Given the description of an element on the screen output the (x, y) to click on. 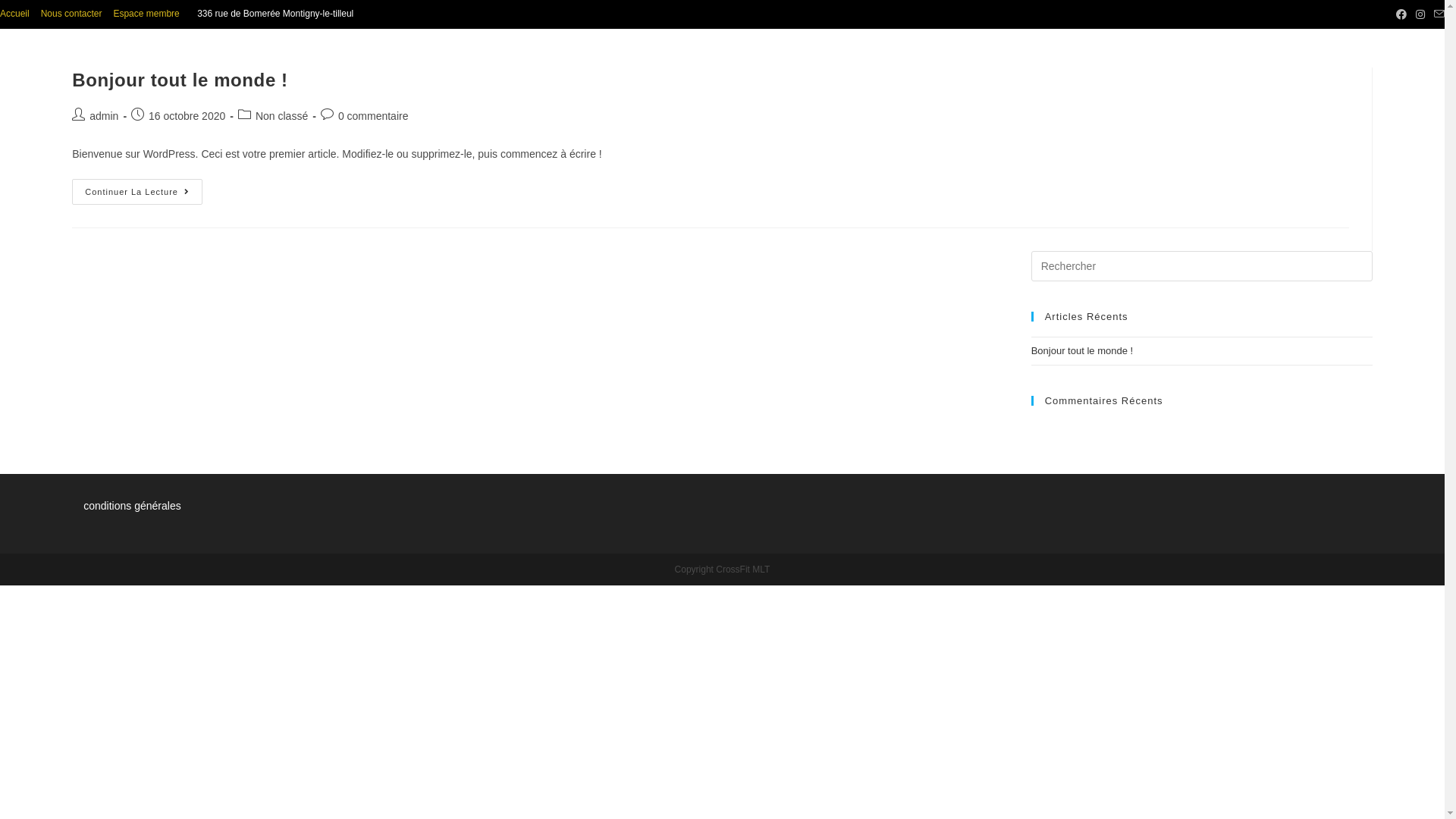
Continuer La Lecture
Bonjour Tout Le Monde ! Element type: text (137, 191)
admin Element type: text (103, 115)
Nous contacter Element type: text (71, 14)
Accueil Element type: text (14, 14)
Bonjour tout le monde ! Element type: text (1081, 350)
0 commentaire Element type: text (373, 115)
Espace membre Element type: text (145, 14)
Bonjour tout le monde ! Element type: text (179, 79)
